Given the description of an element on the screen output the (x, y) to click on. 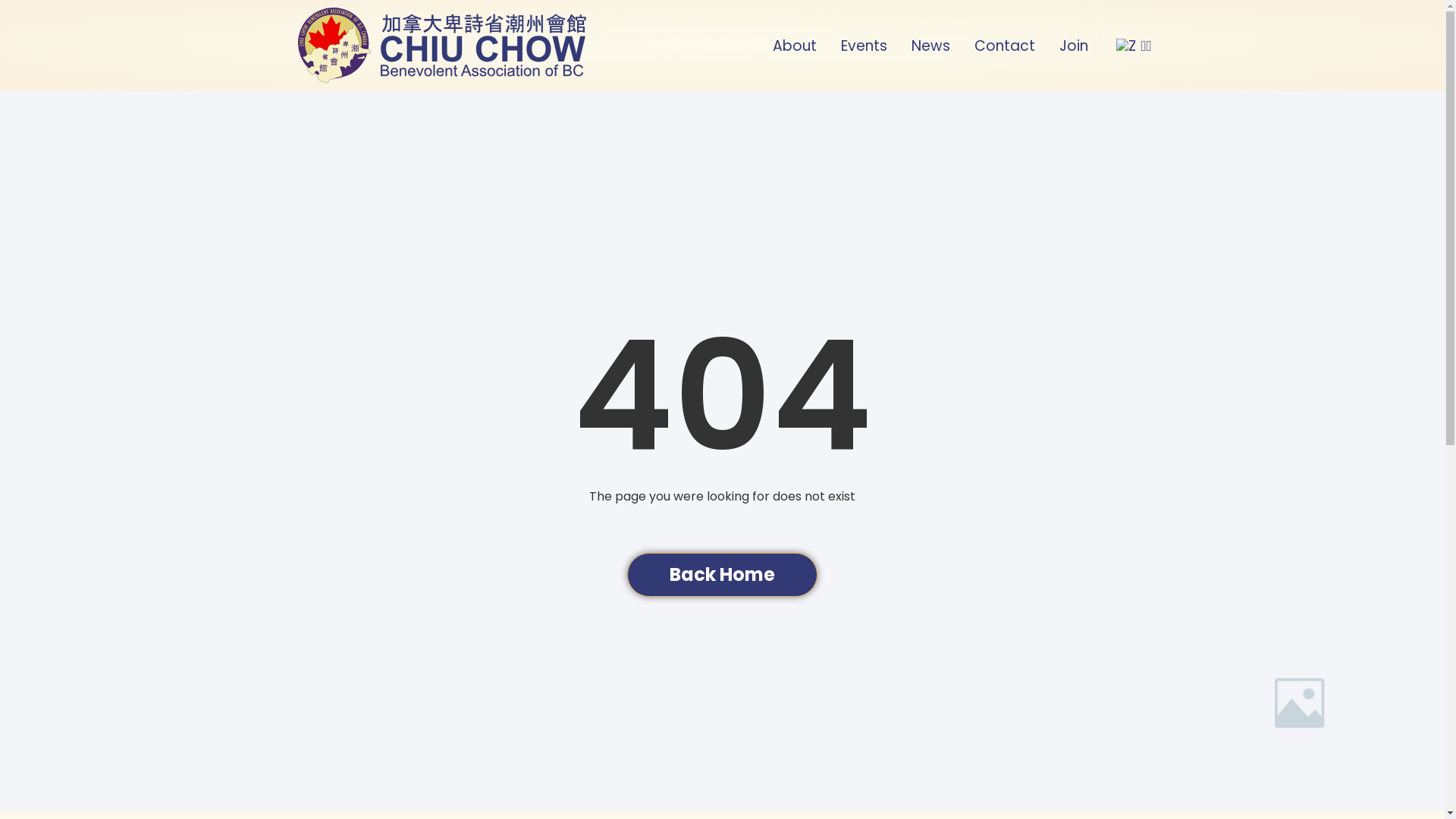
Back Home Element type: text (722, 574)
Join Element type: text (1073, 44)
Contact Element type: text (1004, 44)
Events Element type: text (864, 44)
News Element type: text (930, 44)
About Element type: text (794, 44)
